Given the description of an element on the screen output the (x, y) to click on. 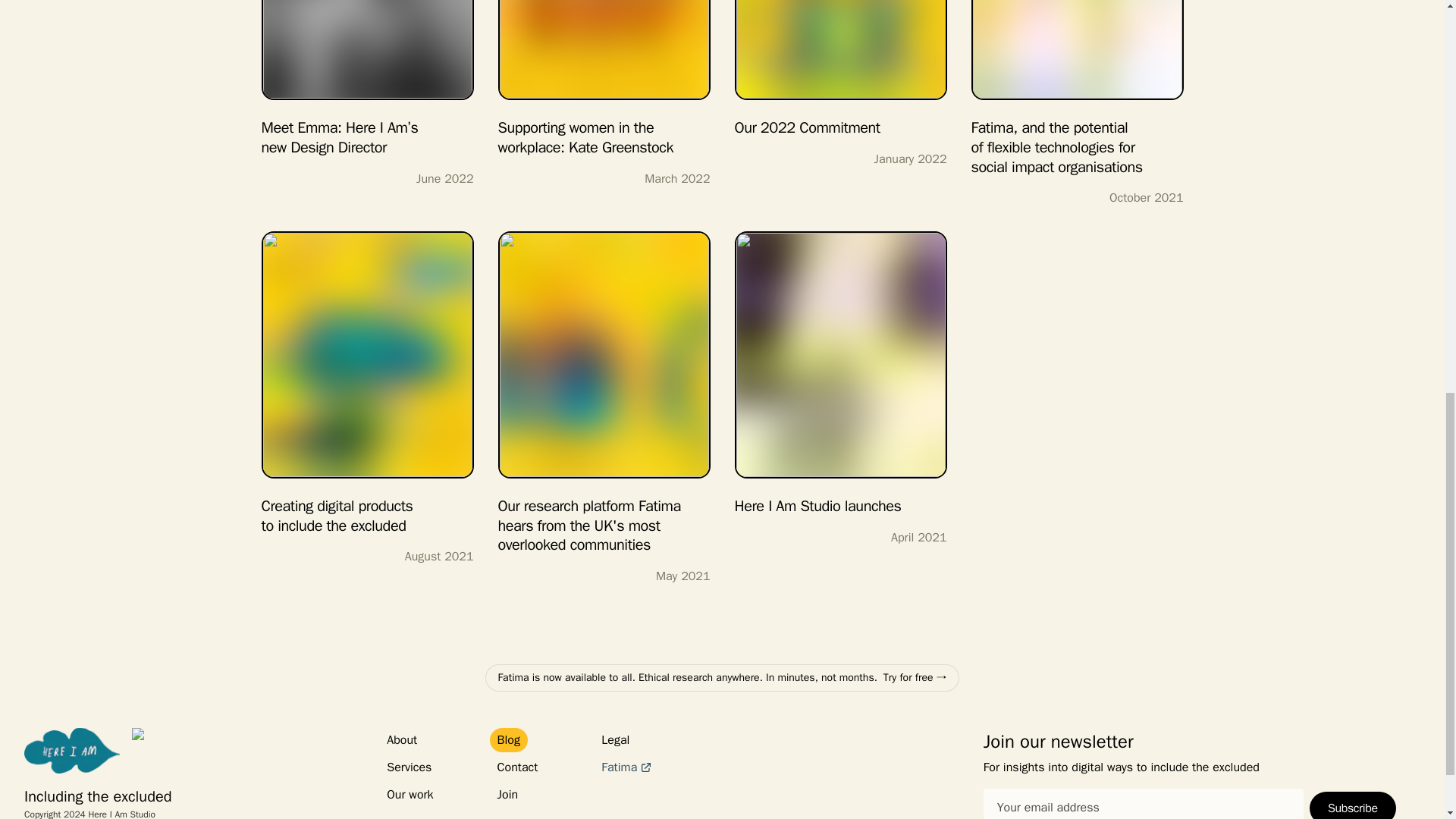
Supporting women in the workplace: Kate Greenstock (603, 78)
Our 2022 Commitment (839, 69)
